Given the description of an element on the screen output the (x, y) to click on. 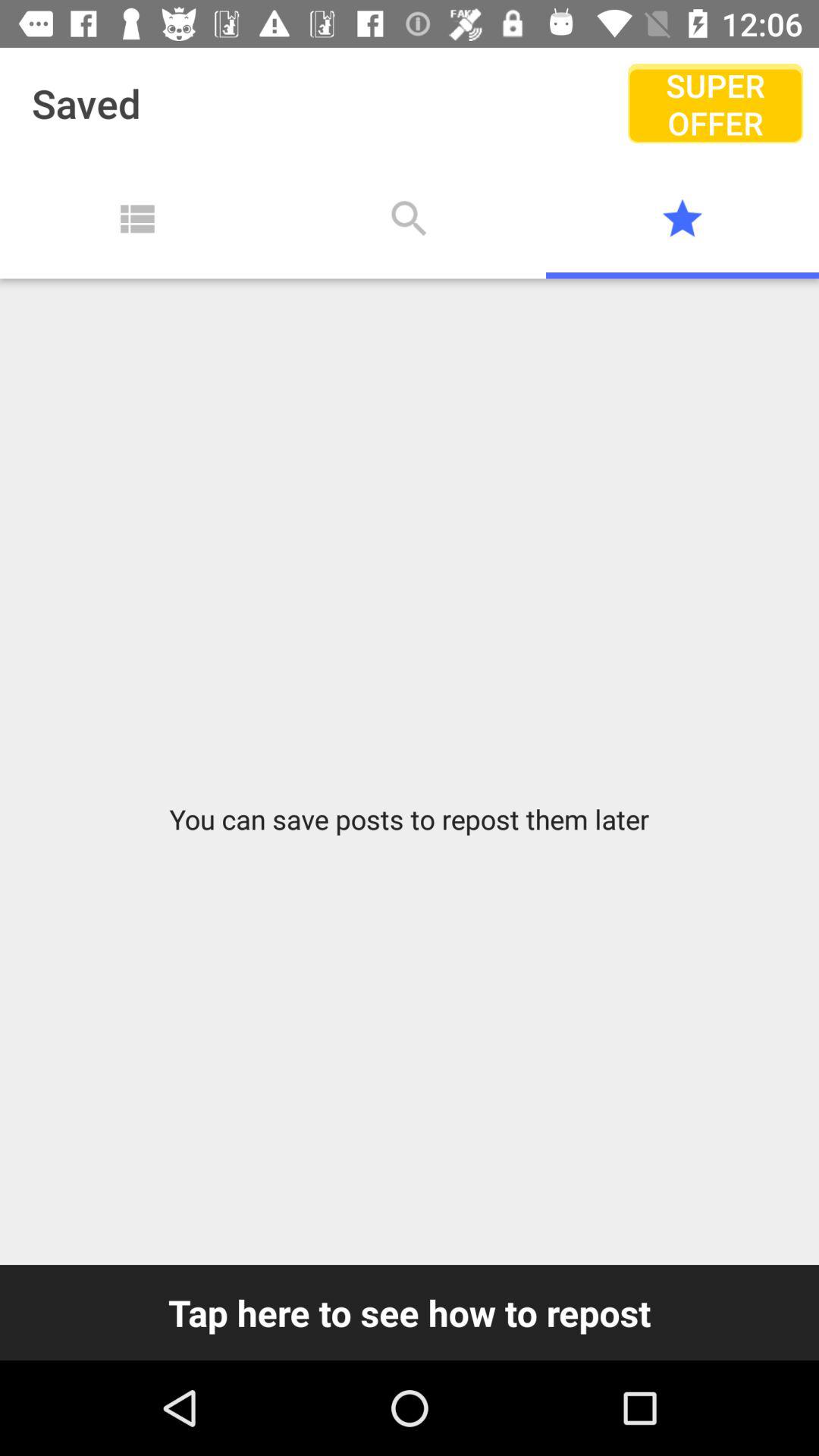
tap the icon to the right of saved (715, 103)
